Given the description of an element on the screen output the (x, y) to click on. 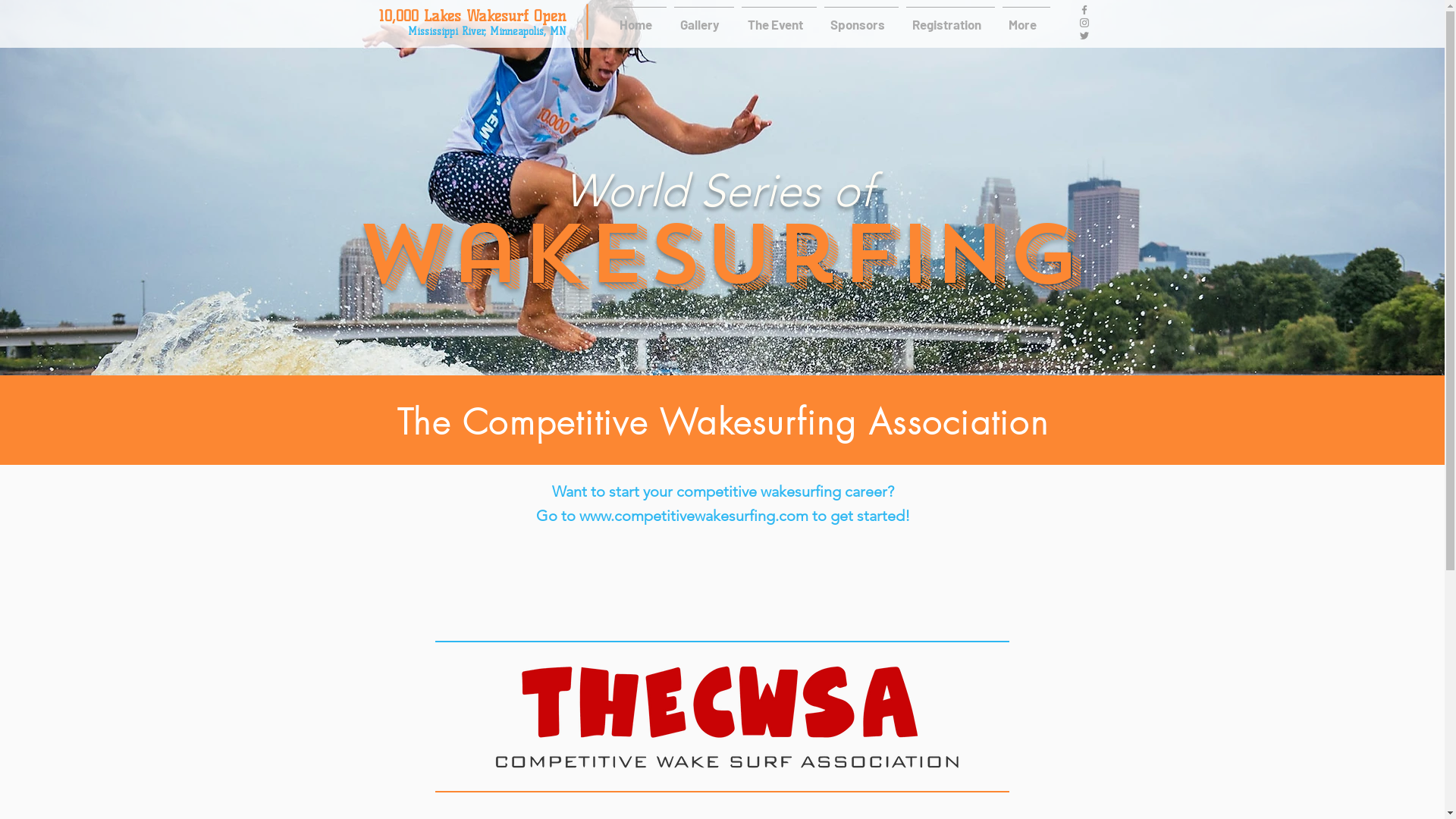
Gallery Element type: text (703, 17)
Home Element type: text (639, 17)
Sponsors Element type: text (861, 17)
Mississippi River, Minneapolis, MN Element type: text (486, 31)
10,000 Lakes Wakesurf Open Element type: text (472, 15)
www.competitivewakesurfing.com Element type: text (693, 515)
Registration Element type: text (950, 17)
The Event Element type: text (778, 17)
